Given the description of an element on the screen output the (x, y) to click on. 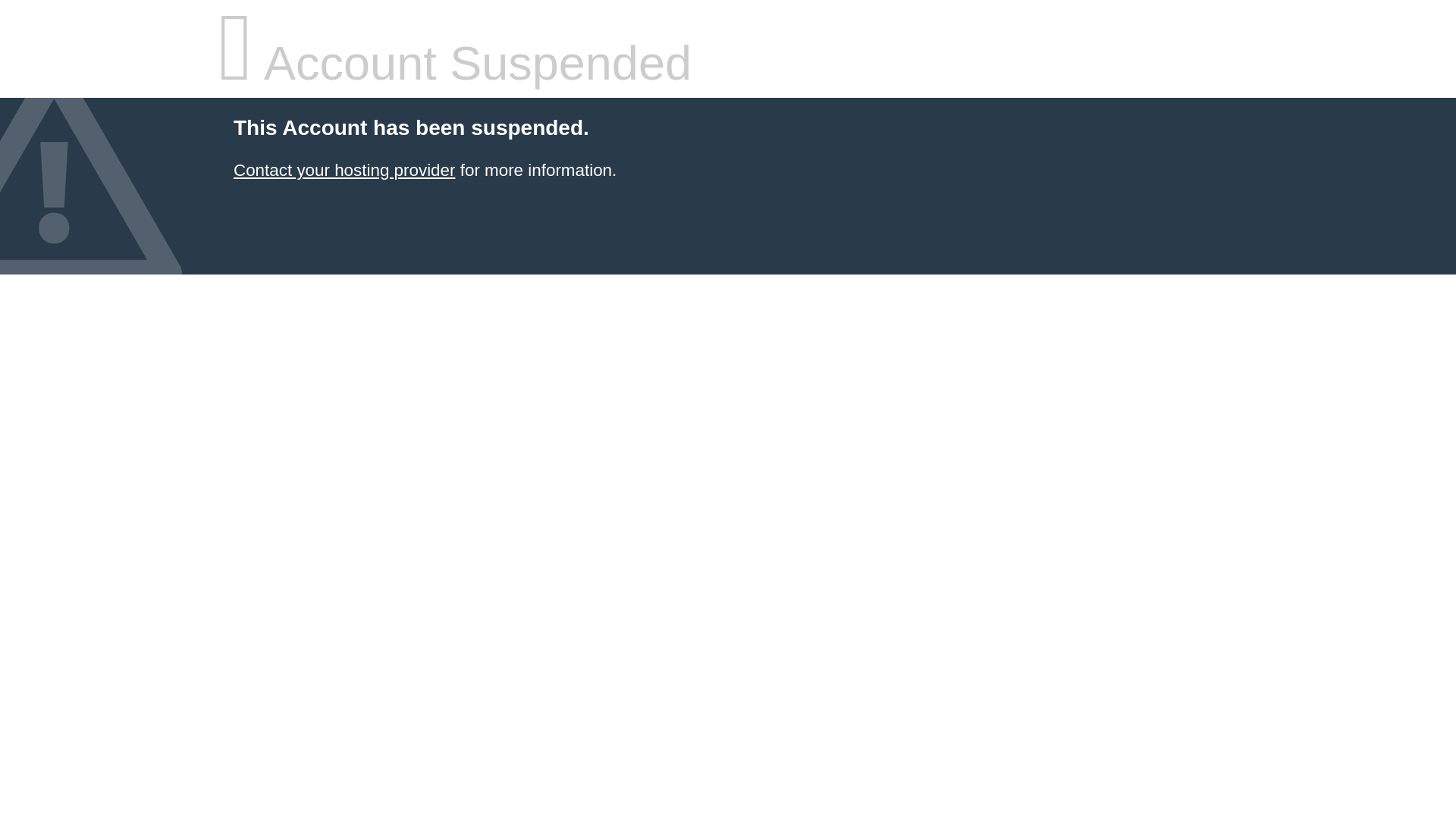
Contact your hosting provider (343, 169)
